Given the description of an element on the screen output the (x, y) to click on. 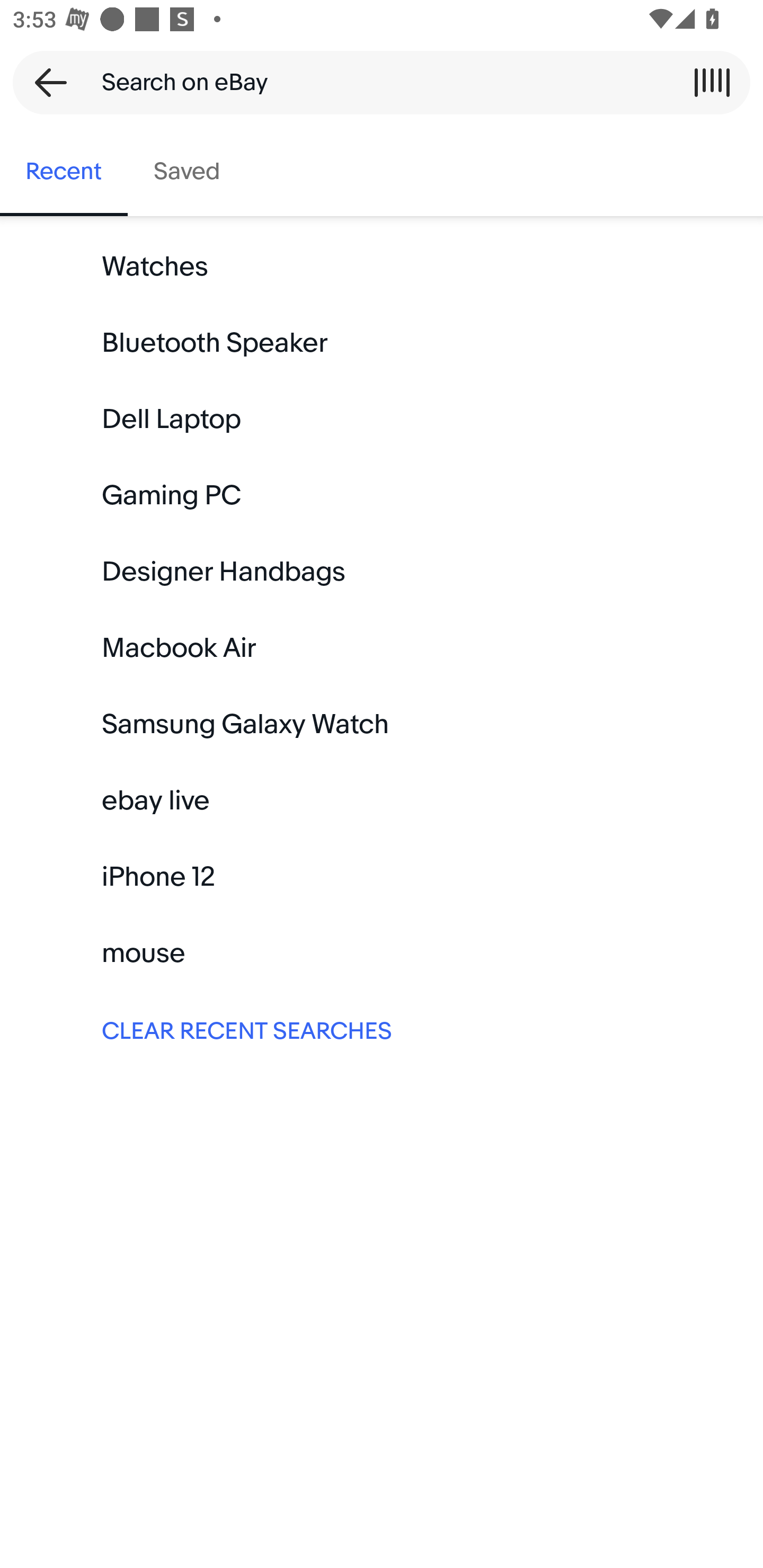
Back (44, 82)
Scan a barcode (711, 82)
Search on eBay (375, 82)
Saved, tab 2 of 2 Saved (186, 171)
Watches Keyword search Watches: (381, 266)
Dell Laptop Keyword search Dell Laptop: (381, 419)
Gaming PC Keyword search Gaming PC: (381, 495)
Macbook Air Keyword search Macbook Air: (381, 647)
ebay live Keyword search ebay live: (381, 800)
iPhone 12 Keyword search iPhone 12: (381, 876)
mouse Keyword search mouse: (381, 952)
CLEAR RECENT SEARCHES (381, 1028)
